Given the description of an element on the screen output the (x, y) to click on. 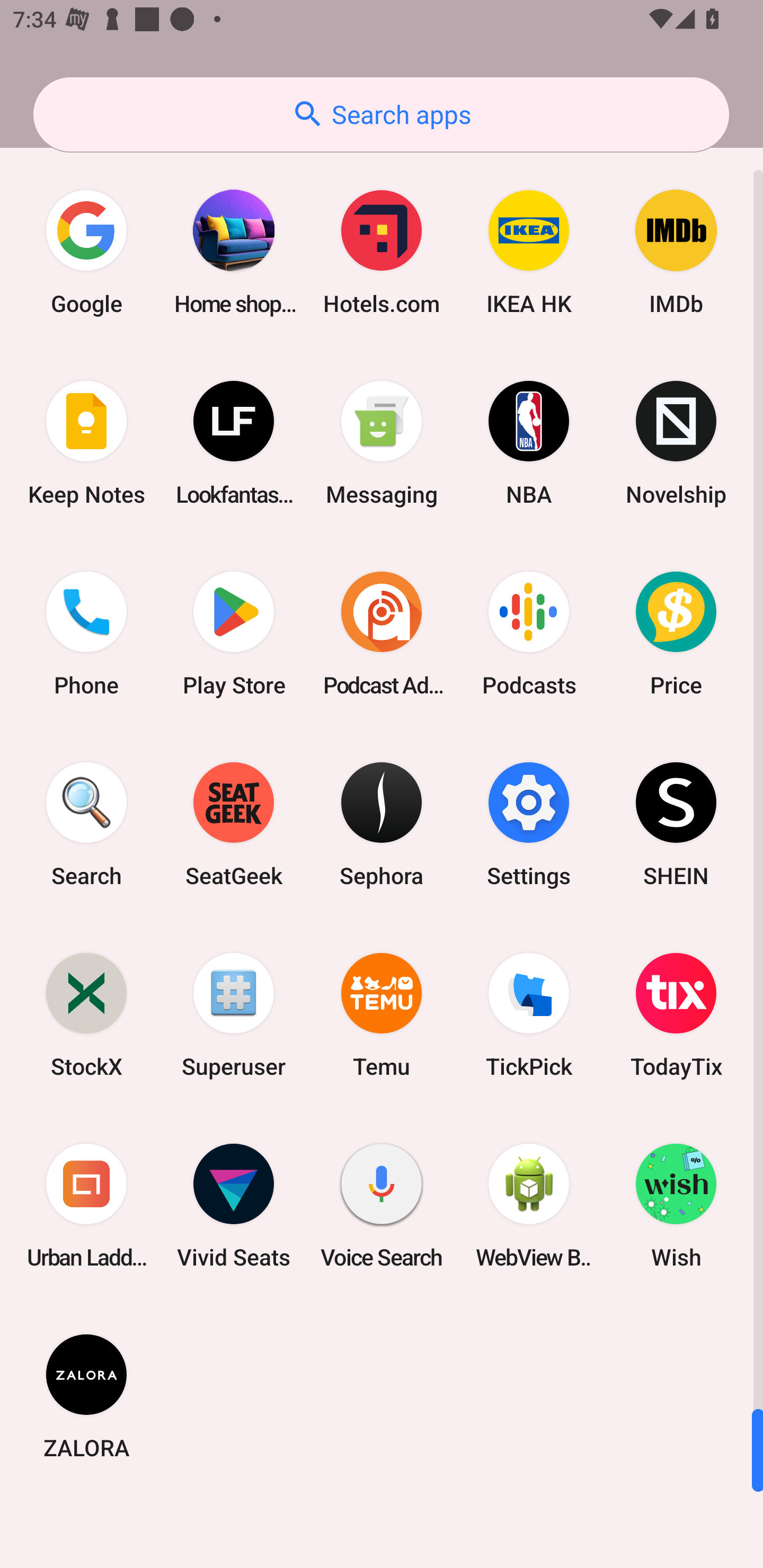
  Search apps (381, 114)
Google (86, 252)
Home shopping (233, 252)
Hotels.com (381, 252)
IKEA HK (528, 252)
IMDb (676, 252)
Keep Notes (86, 442)
Lookfantastic (233, 442)
Messaging (381, 442)
NBA (528, 442)
Novelship (676, 442)
Phone (86, 633)
Play Store (233, 633)
Podcast Addict (381, 633)
Podcasts (528, 633)
Price (676, 633)
Search (86, 823)
SeatGeek (233, 823)
Sephora (381, 823)
Settings (528, 823)
SHEIN (676, 823)
StockX (86, 1014)
Superuser (233, 1014)
Temu (381, 1014)
TickPick (528, 1014)
TodayTix (676, 1014)
Urban Ladder (86, 1205)
Vivid Seats (233, 1205)
Voice Search (381, 1205)
WebView Browser Tester (528, 1205)
Wish (676, 1205)
ZALORA (86, 1396)
